Given the description of an element on the screen output the (x, y) to click on. 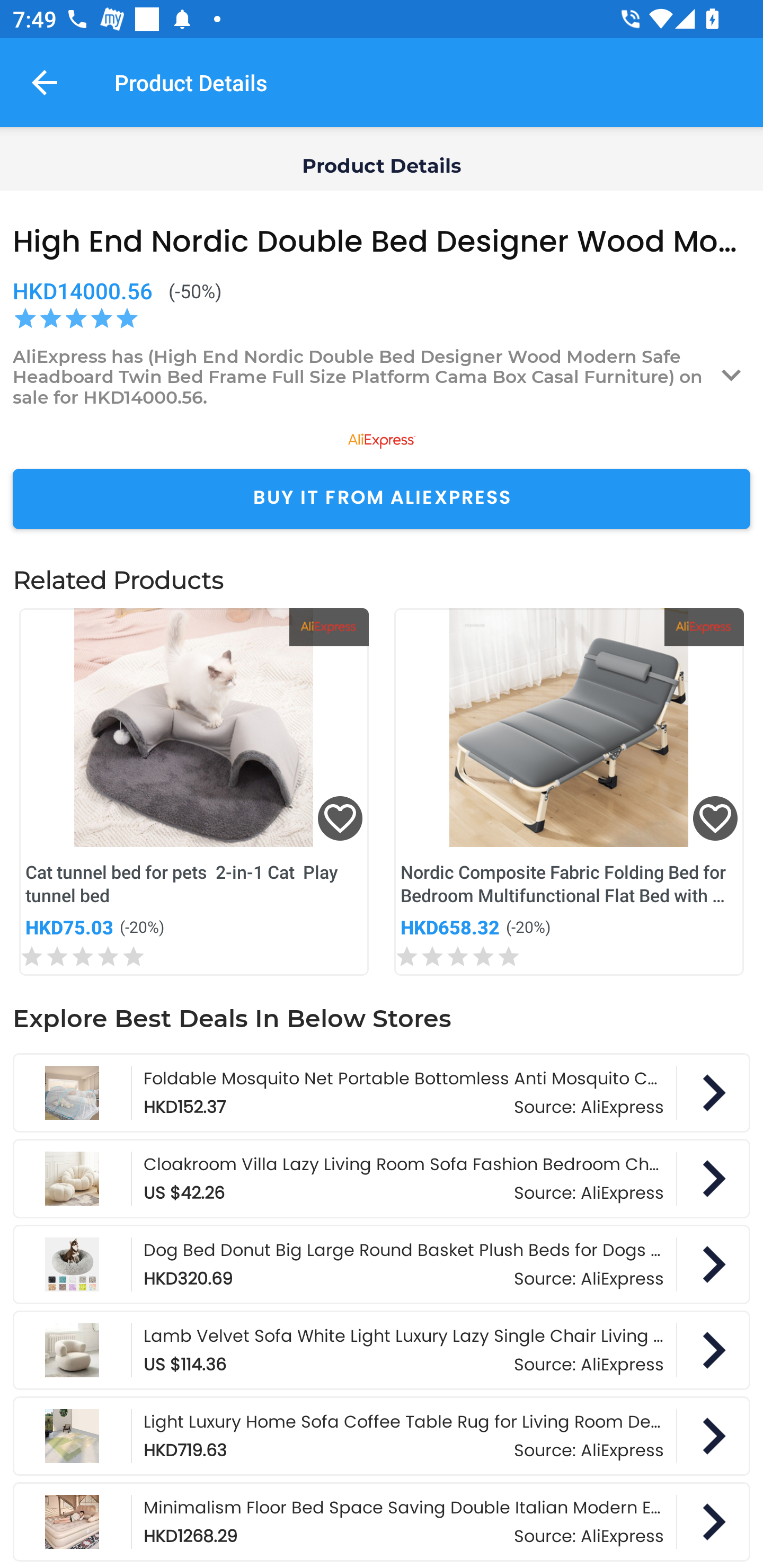
Navigate up (44, 82)
BUY IT FROM ALIEXPRESS (381, 499)
